Given the description of an element on the screen output the (x, y) to click on. 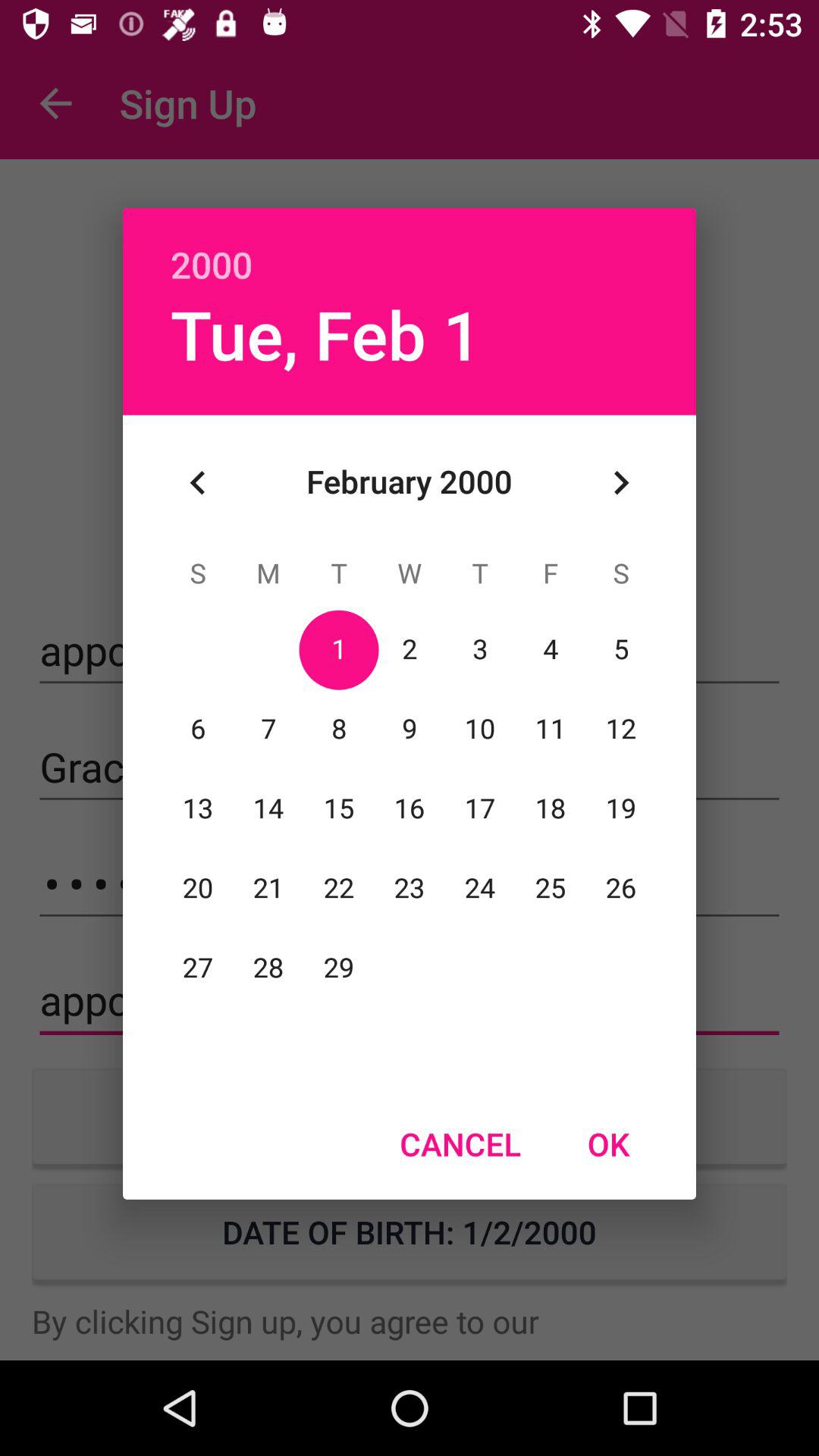
launch the icon next to the ok icon (459, 1143)
